Given the description of an element on the screen output the (x, y) to click on. 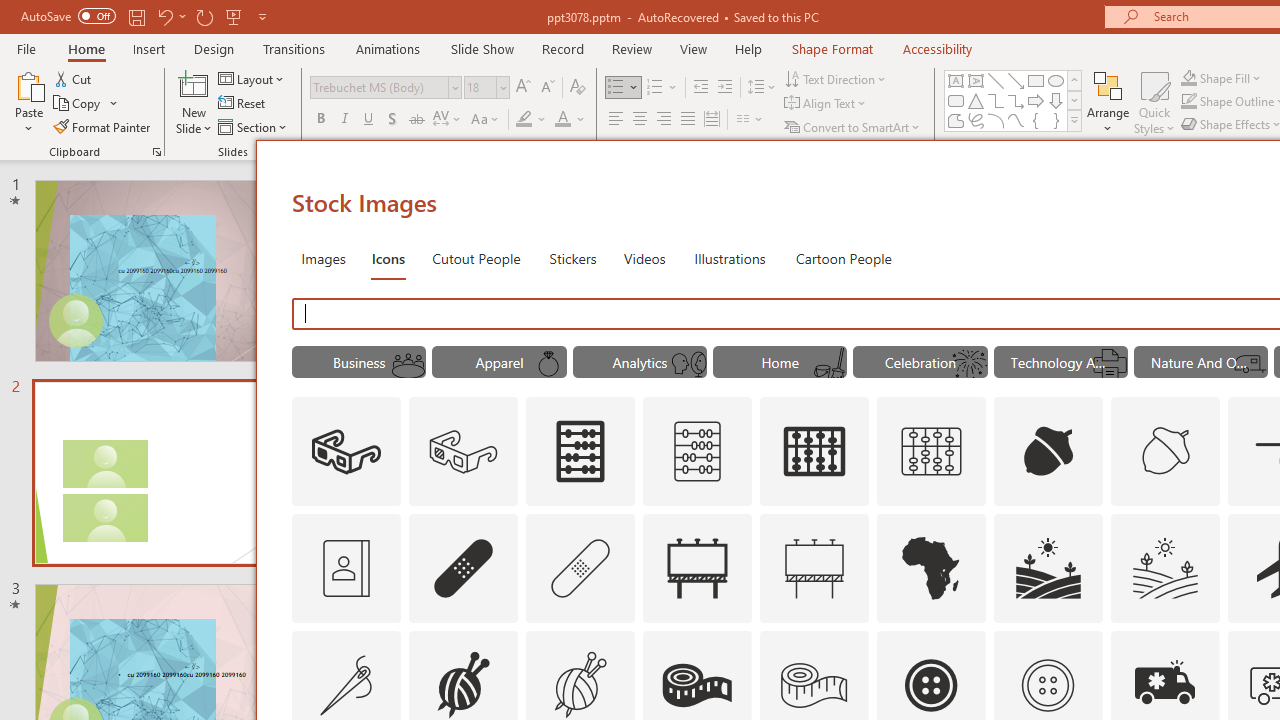
Vertical Text Box (975, 80)
AutomationID: Icons_Acorn (1048, 452)
Oval (1055, 80)
Images (322, 258)
Bold (320, 119)
Format Painter (103, 126)
"Celebration" Icons. (920, 362)
